Given the description of an element on the screen output the (x, y) to click on. 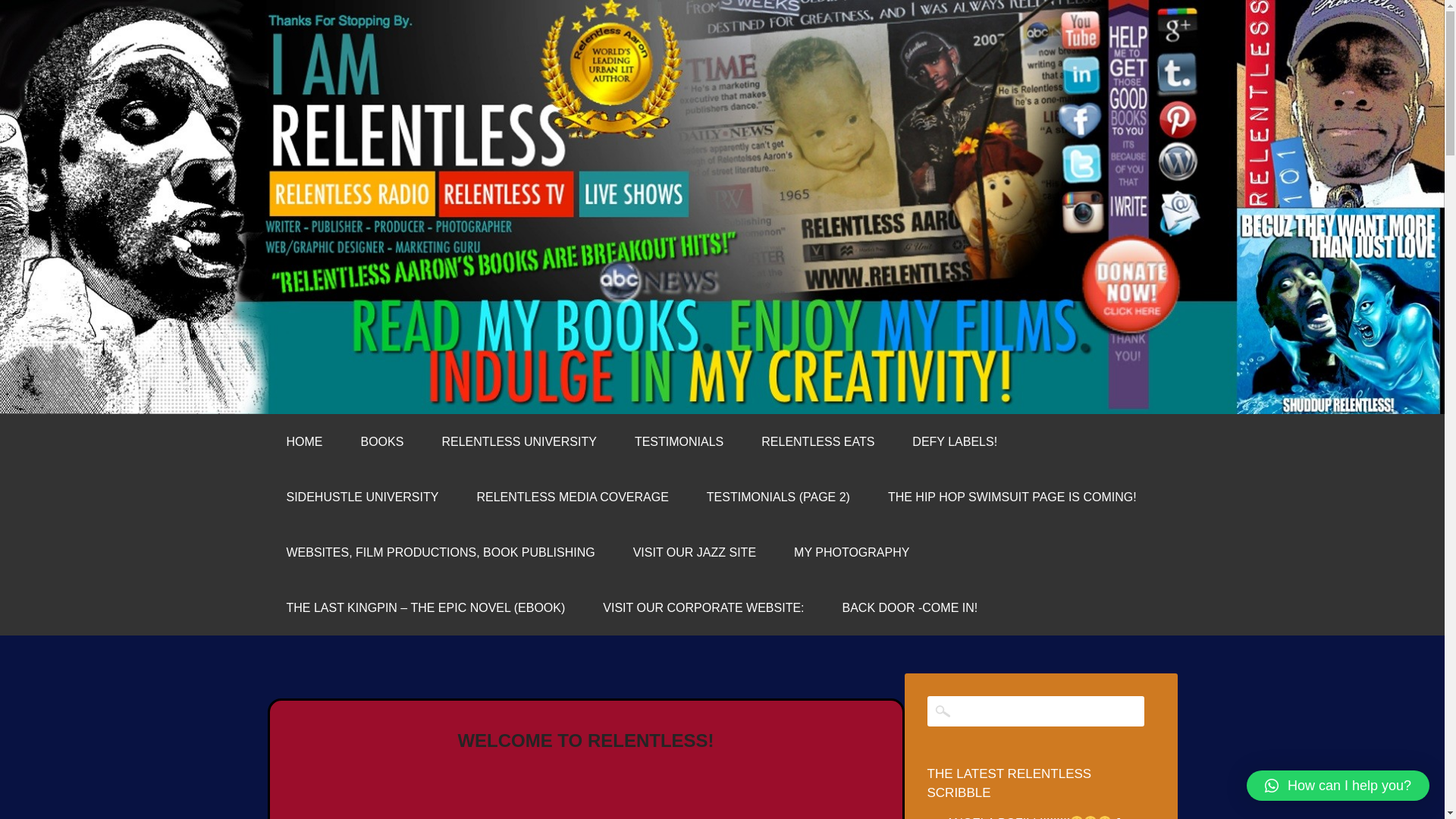
VISIT OUR CORPORATE WEBSITE: (702, 607)
Relentless Aaron, The Truth (387, 154)
VISIT OUR JAZZ SITE (694, 551)
TESTIMONIALS (678, 441)
BACK DOOR -COME IN! (910, 607)
WEBSITES, FILM PRODUCTIONS, BOOK PUBLISHING (439, 551)
RELENTLESS MEDIA COVERAGE (572, 496)
MY PHOTOGRAPHY (851, 551)
RELENTLESS EATS (817, 441)
RELENTLESS UNIVERSITY (518, 441)
DEFY LABELS! (954, 441)
RELENTLESS AARON, THE TRUTH (387, 154)
HOME (303, 441)
SIDEHUSTLE UNIVERSITY (361, 496)
THE HIP HOP SWIMSUIT PAGE IS COMING! (1012, 496)
